Given the description of an element on the screen output the (x, y) to click on. 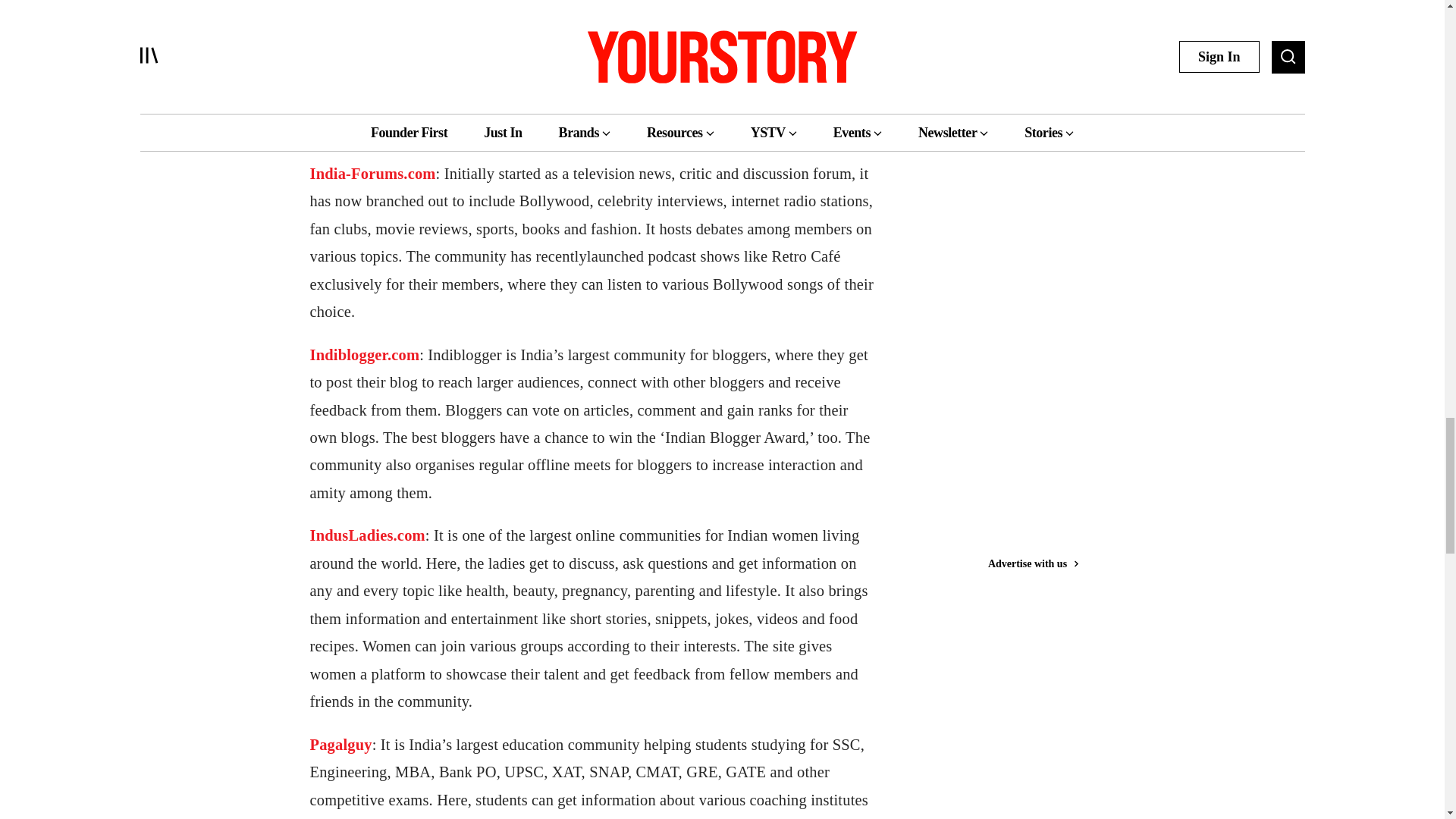
IndusLadies.com (366, 535)
3rd party ad content (1043, 36)
Indiblogger.com (363, 354)
Pagalguy (339, 744)
India-Forums.com (371, 173)
